Given the description of an element on the screen output the (x, y) to click on. 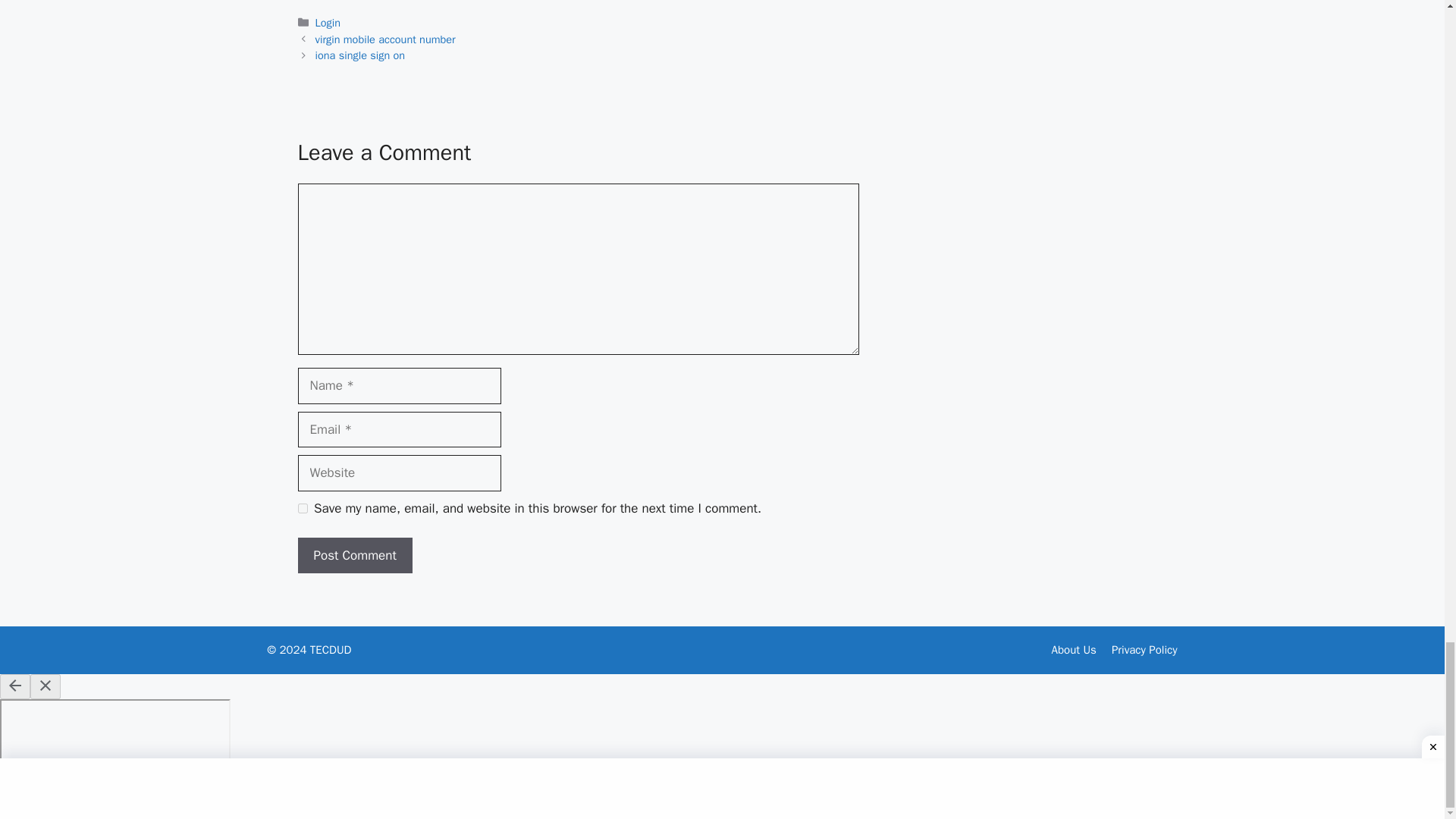
iona single sign on (360, 55)
virgin mobile account number (385, 38)
Login (327, 22)
yes (302, 508)
Post Comment (354, 555)
